Given the description of an element on the screen output the (x, y) to click on. 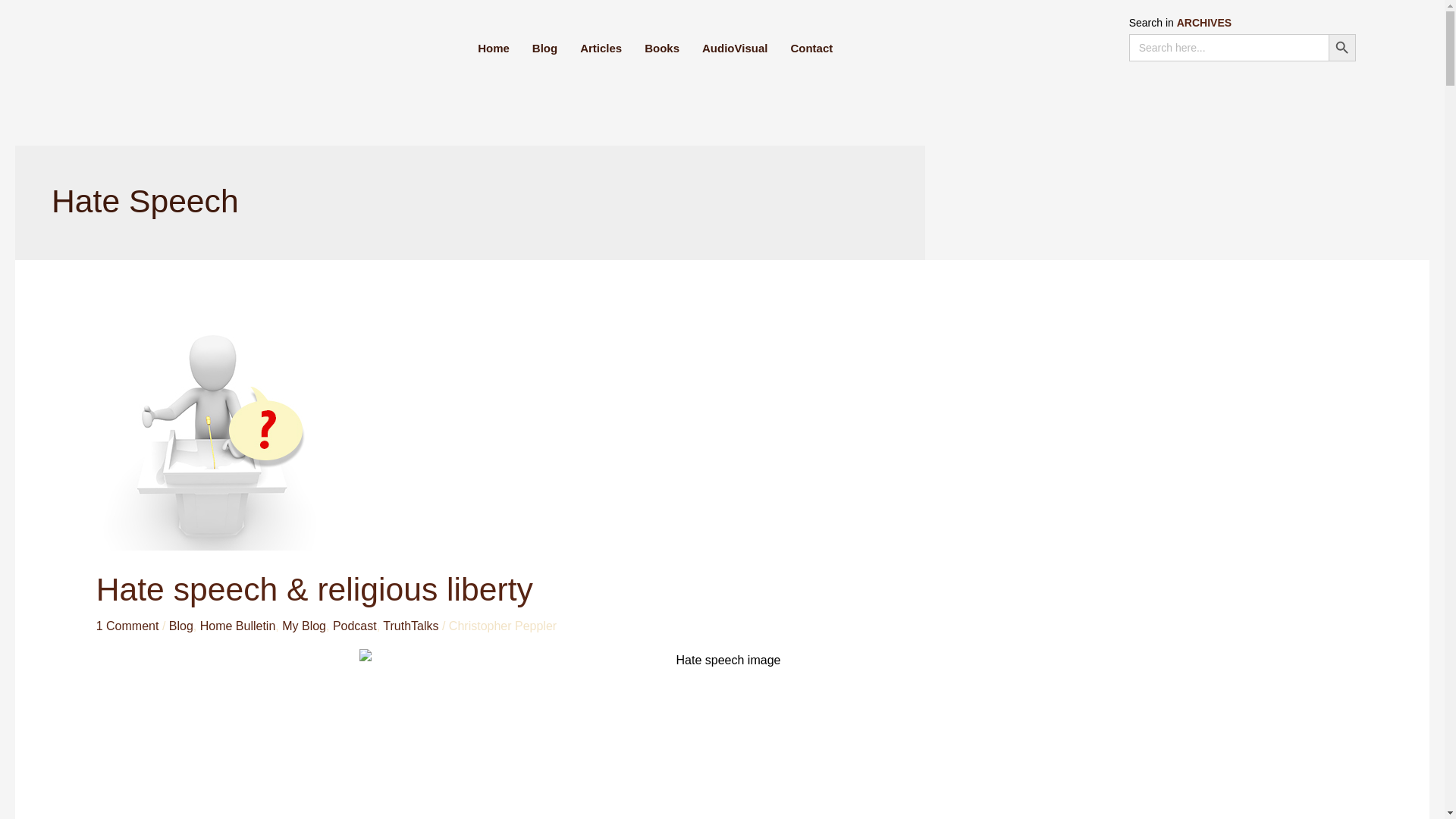
AudioVisual (734, 48)
Christopher Peppler (502, 625)
Home Bulletin (238, 625)
Articles (601, 48)
Books (661, 48)
My Blog (304, 625)
View all posts by Christopher Peppler (502, 625)
Search Button (1341, 47)
ARCHIVES (1203, 22)
Home (493, 48)
